Given the description of an element on the screen output the (x, y) to click on. 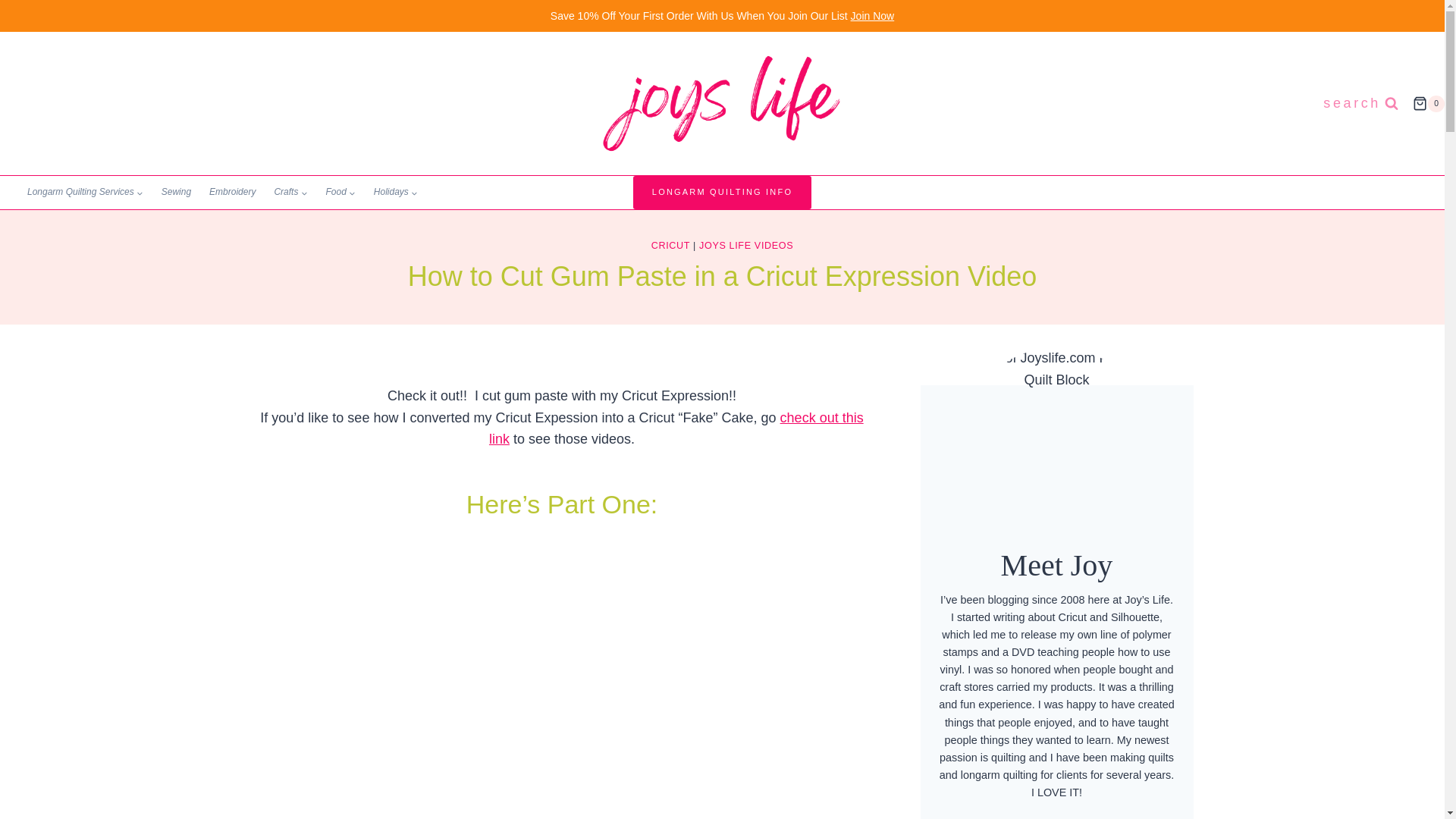
Longarm Quilting Services (84, 192)
Embroidery (232, 192)
Sewing (176, 192)
Join Now (872, 15)
Holidays (395, 192)
search (1360, 103)
Food (339, 192)
LONGARM QUILTING INFO (721, 192)
Crafts (289, 192)
